Given the description of an element on the screen output the (x, y) to click on. 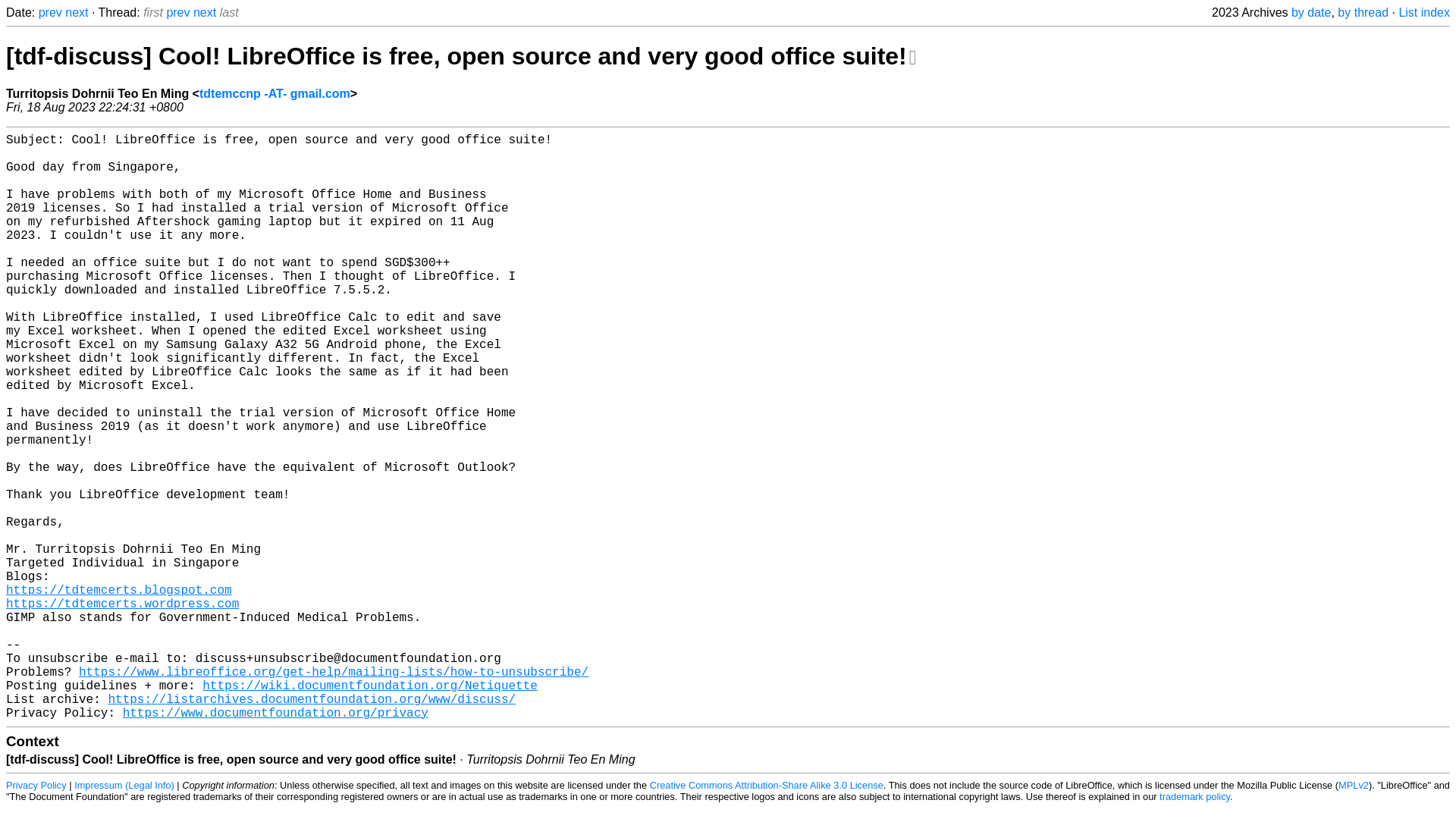
next (204, 11)
by date (1310, 11)
Privacy Policy (35, 785)
Creative Commons Attribution-Share Alike 3.0 License (766, 785)
MPLv2 (1353, 785)
prev (50, 11)
prev (177, 11)
next (76, 11)
by thread (1363, 11)
tdtemccnp -AT- gmail.com (274, 92)
